Given the description of an element on the screen output the (x, y) to click on. 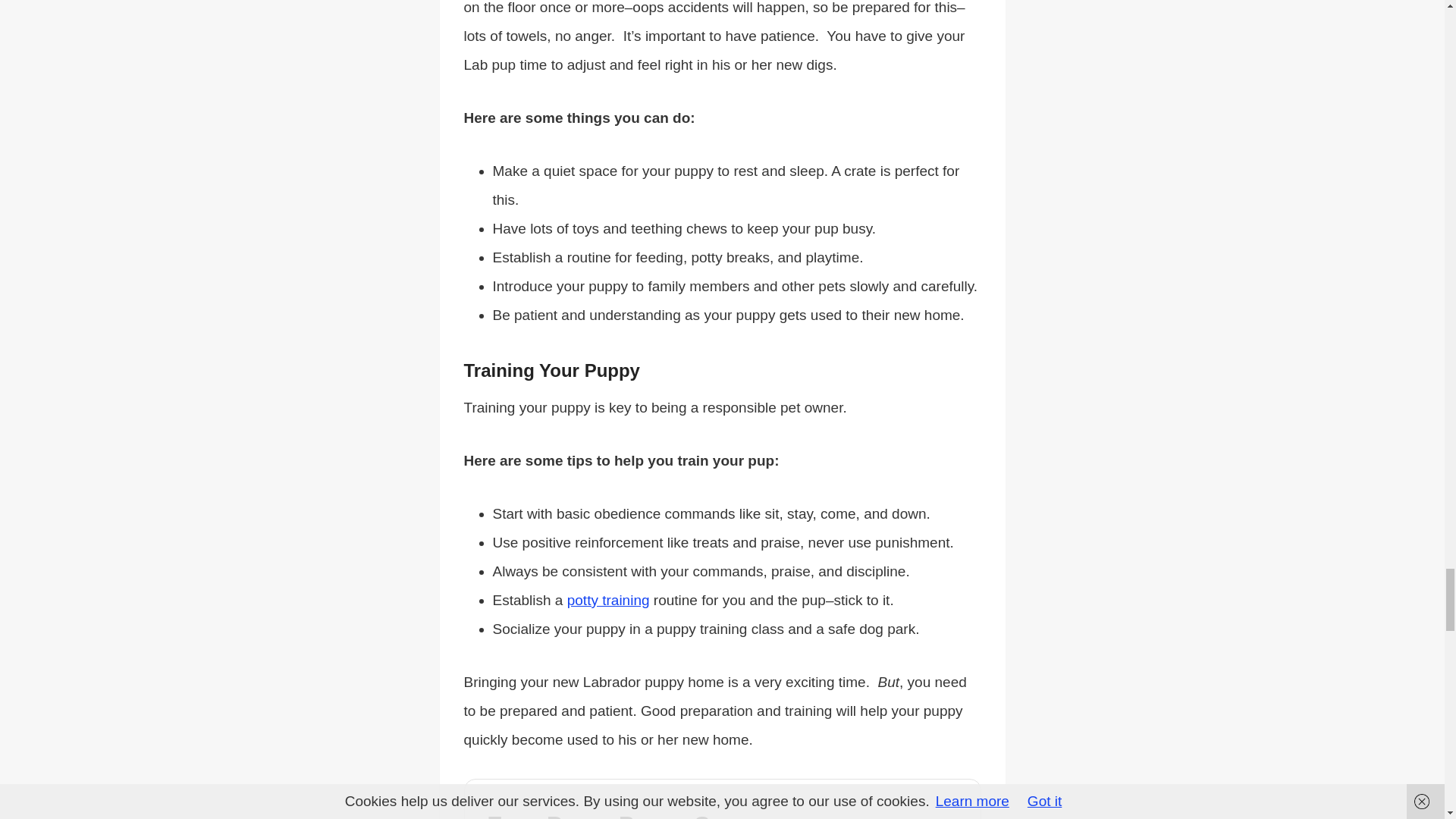
potty training (608, 599)
Easy Peasy Puppy Squeezy (645, 814)
Easy Peasy Puppy Squeezy (645, 814)
